Given the description of an element on the screen output the (x, y) to click on. 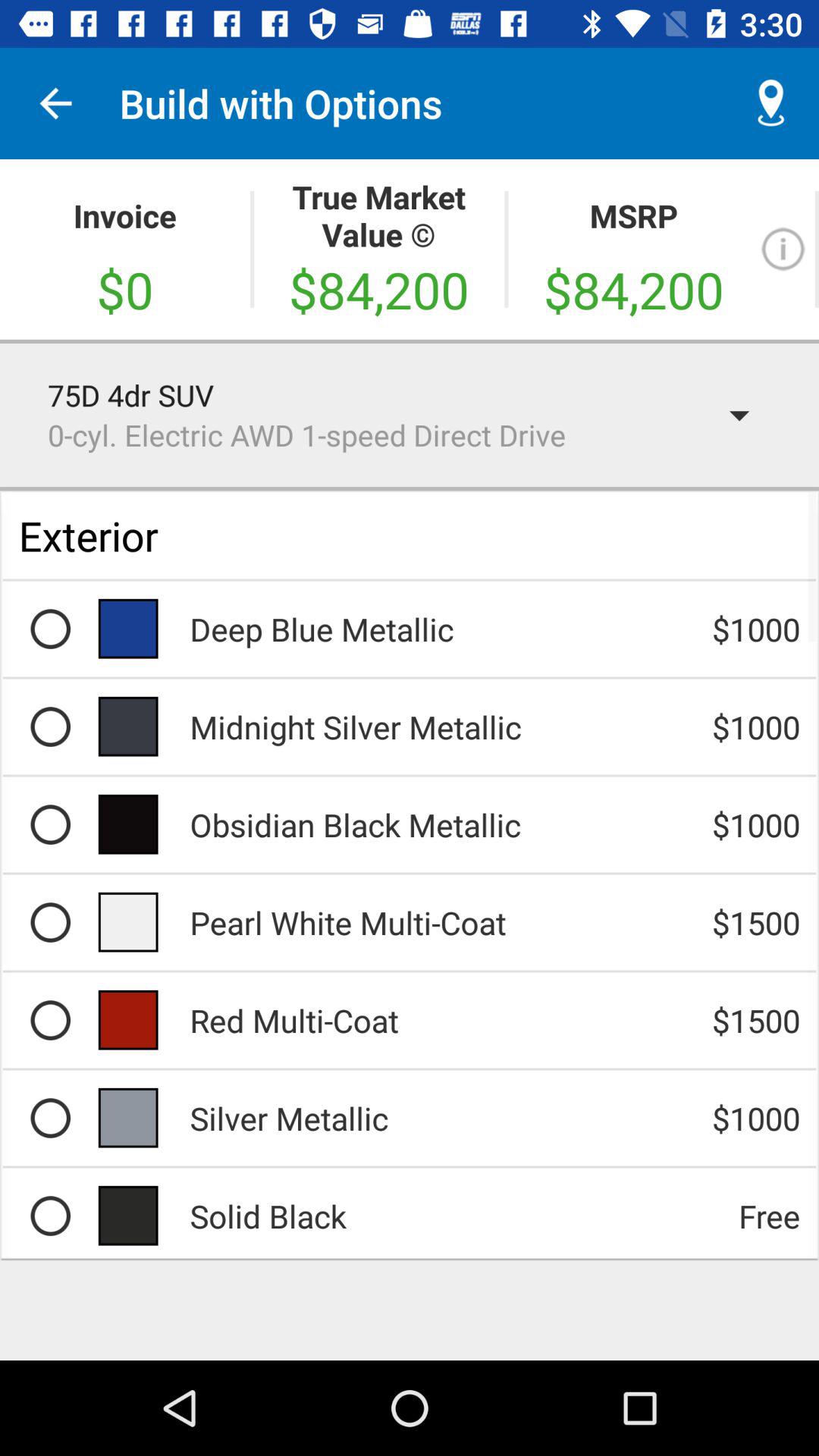
change car color (50, 922)
